Given the description of an element on the screen output the (x, y) to click on. 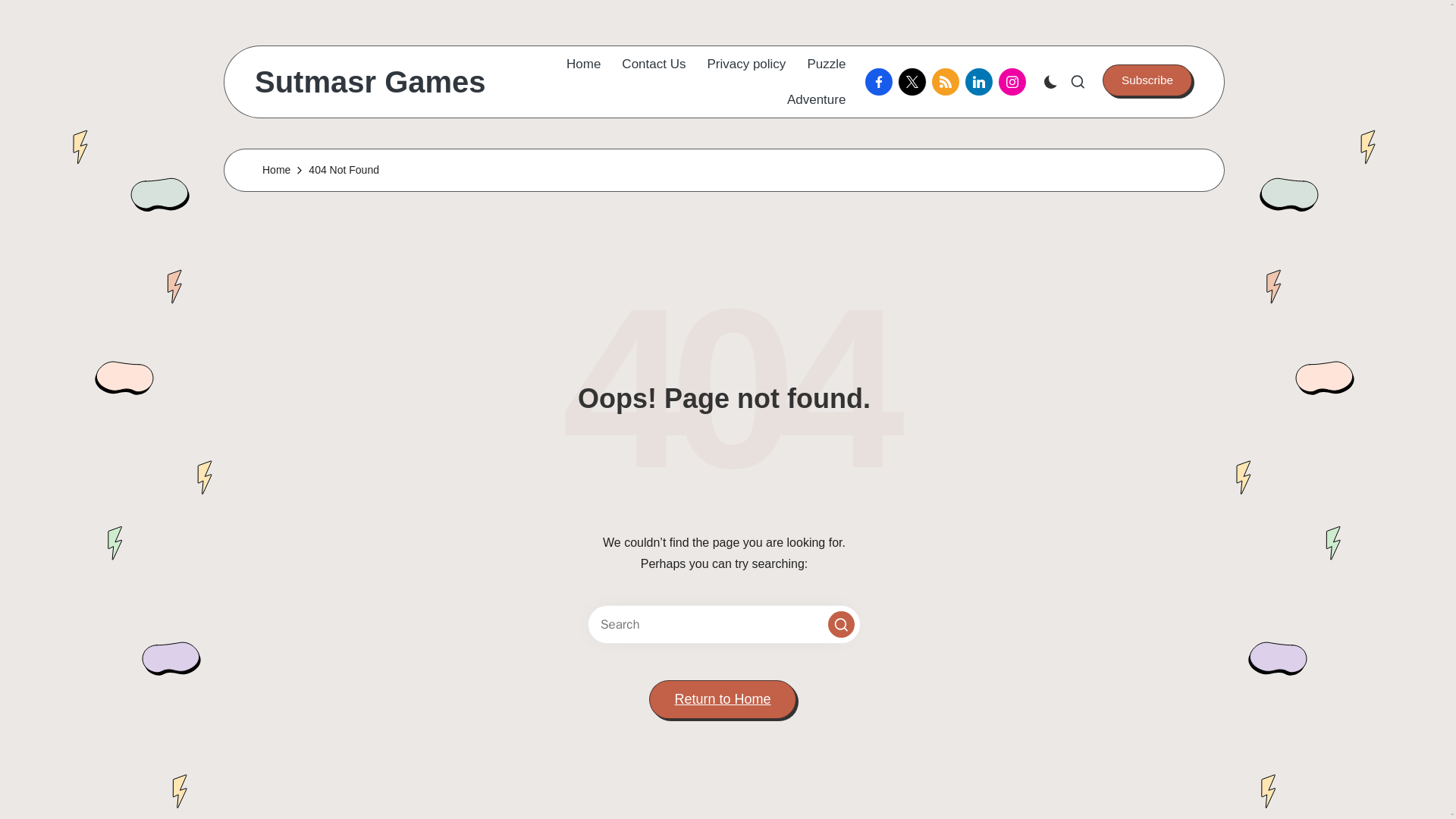
Sutmasr Games (370, 81)
Privacy policy (746, 63)
Home (582, 63)
rss.com (948, 81)
Contact Us (653, 63)
instagram.com (1015, 81)
linkedin.com (981, 81)
Subscribe (1147, 80)
facebook.com (881, 81)
twitter.com (914, 81)
